Given the description of an element on the screen output the (x, y) to click on. 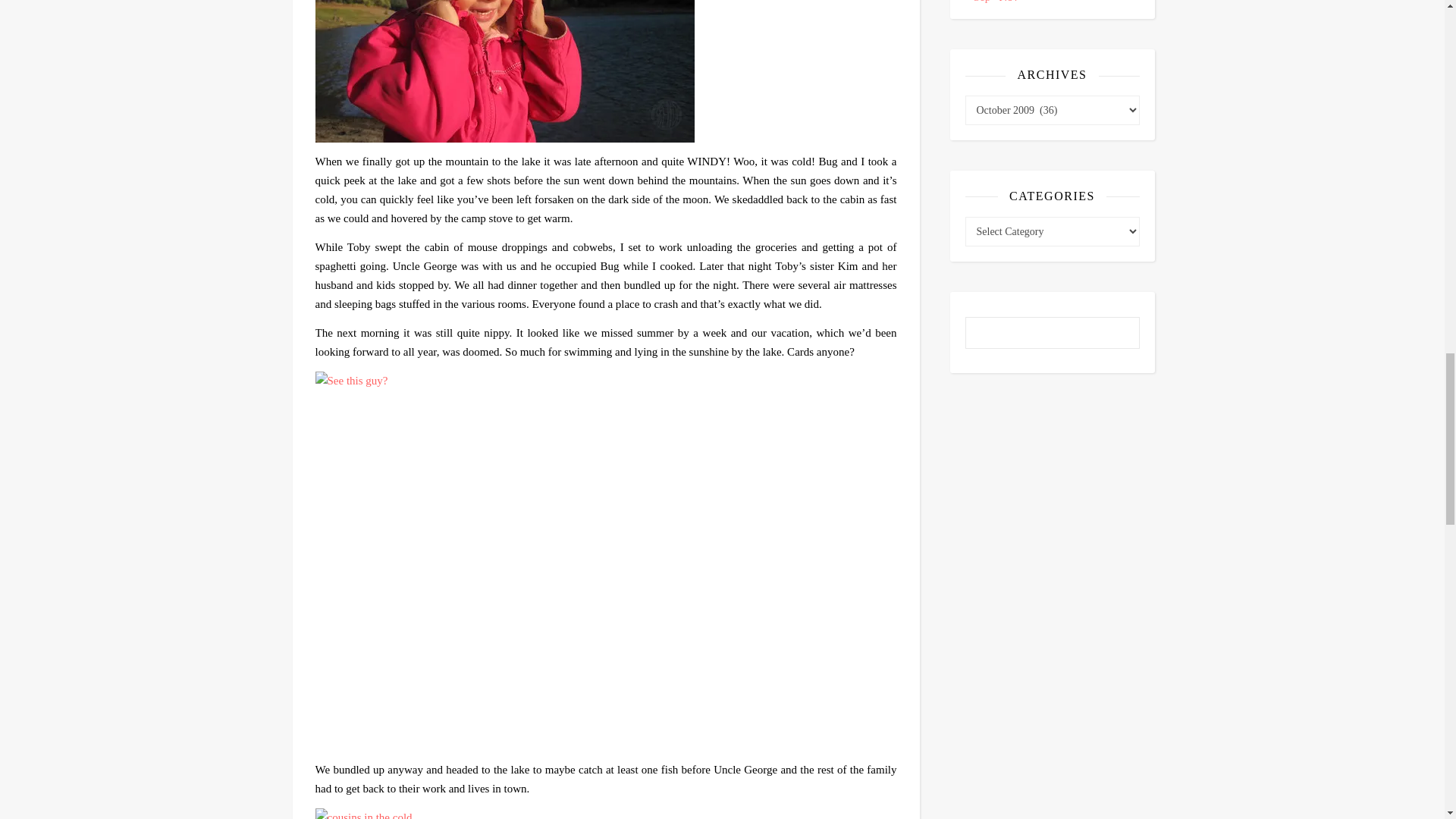
cousins in the cold by secret agent josephine, on Flickr (605, 813)
windy 2 by secret agent josephine, on Flickr (605, 71)
